Given the description of an element on the screen output the (x, y) to click on. 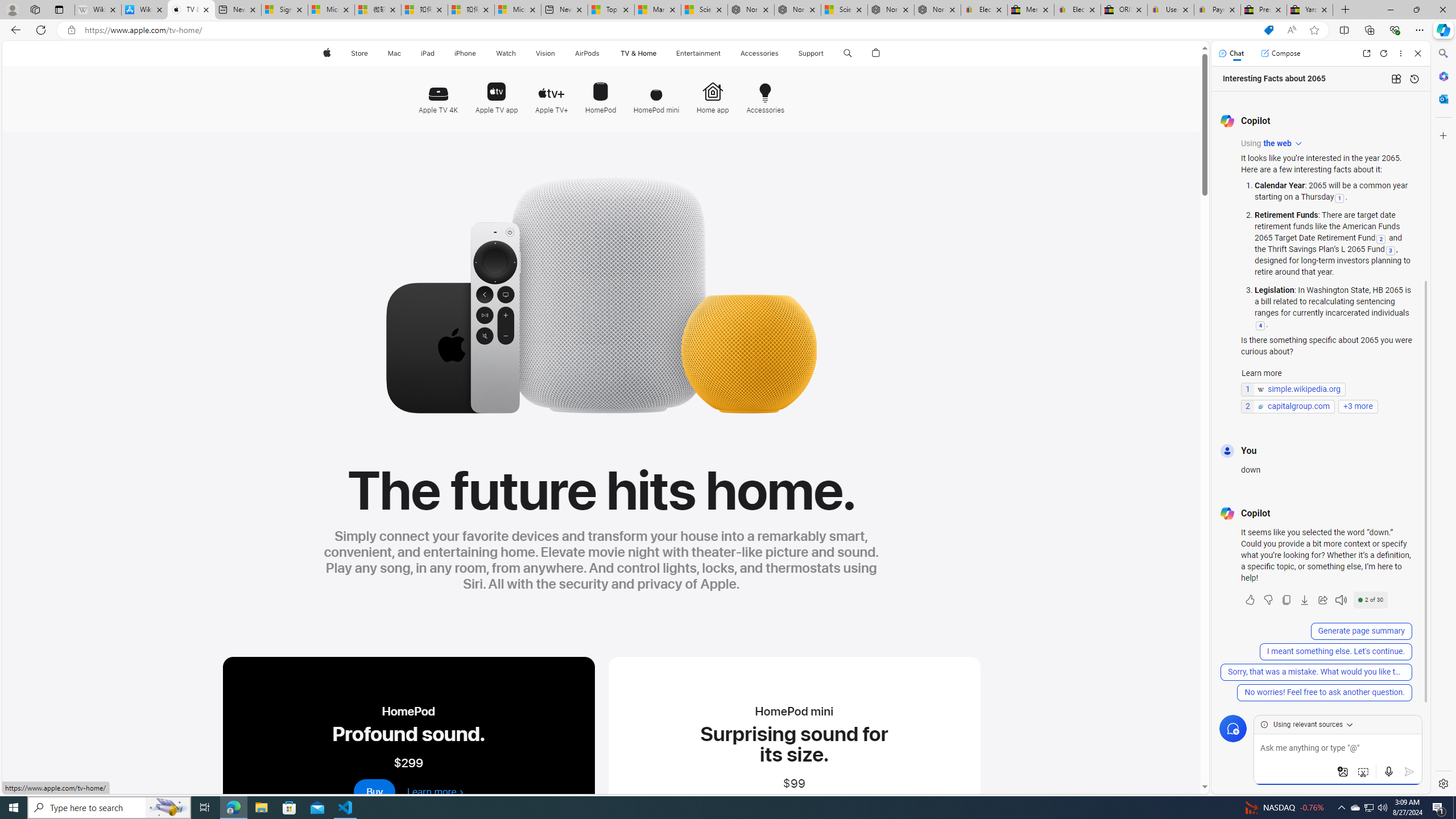
Apple TV+ (551, 92)
TV & Home (637, 53)
AirPods menu (601, 53)
TV and Home (637, 53)
Shopping Bag (876, 53)
Press Room - eBay Inc. (1263, 9)
Home app (712, 92)
Nordace - Summer Adventures 2024 (890, 9)
Mac menu (402, 53)
HomePod mini (656, 93)
Accessories (764, 93)
Vision menu (557, 53)
